Given the description of an element on the screen output the (x, y) to click on. 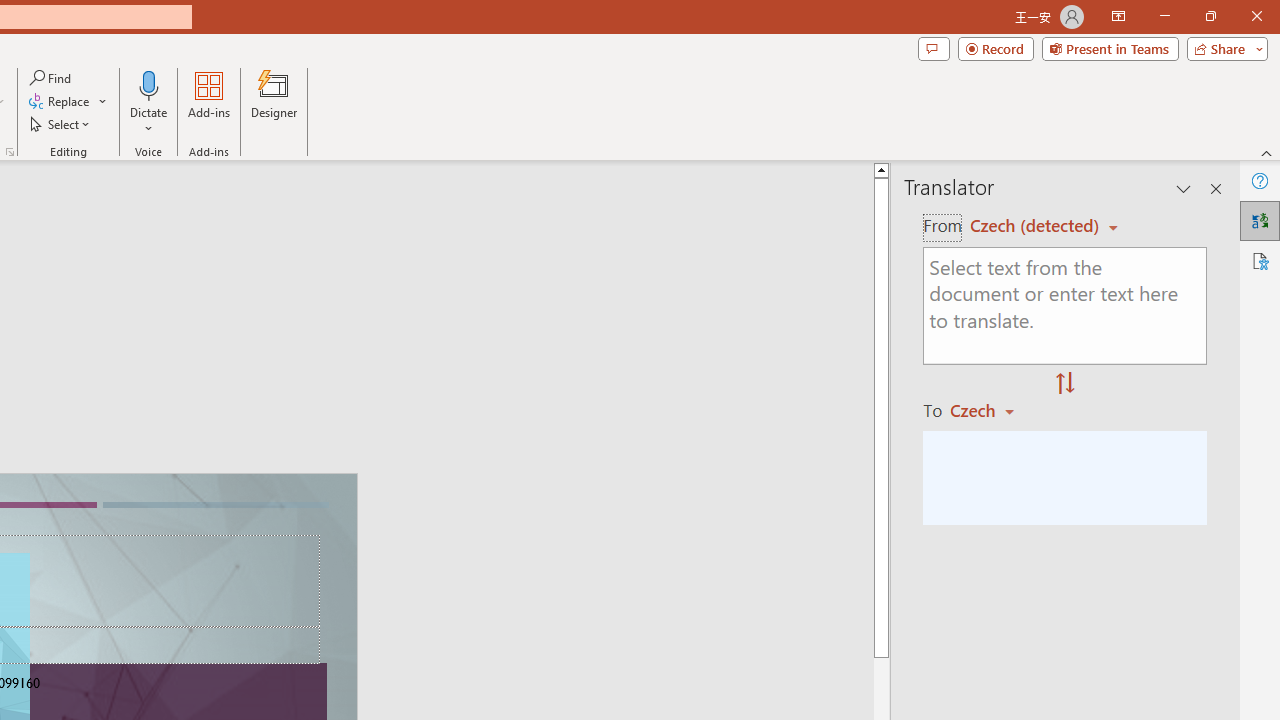
Czech (detected) (1037, 225)
